Given the description of an element on the screen output the (x, y) to click on. 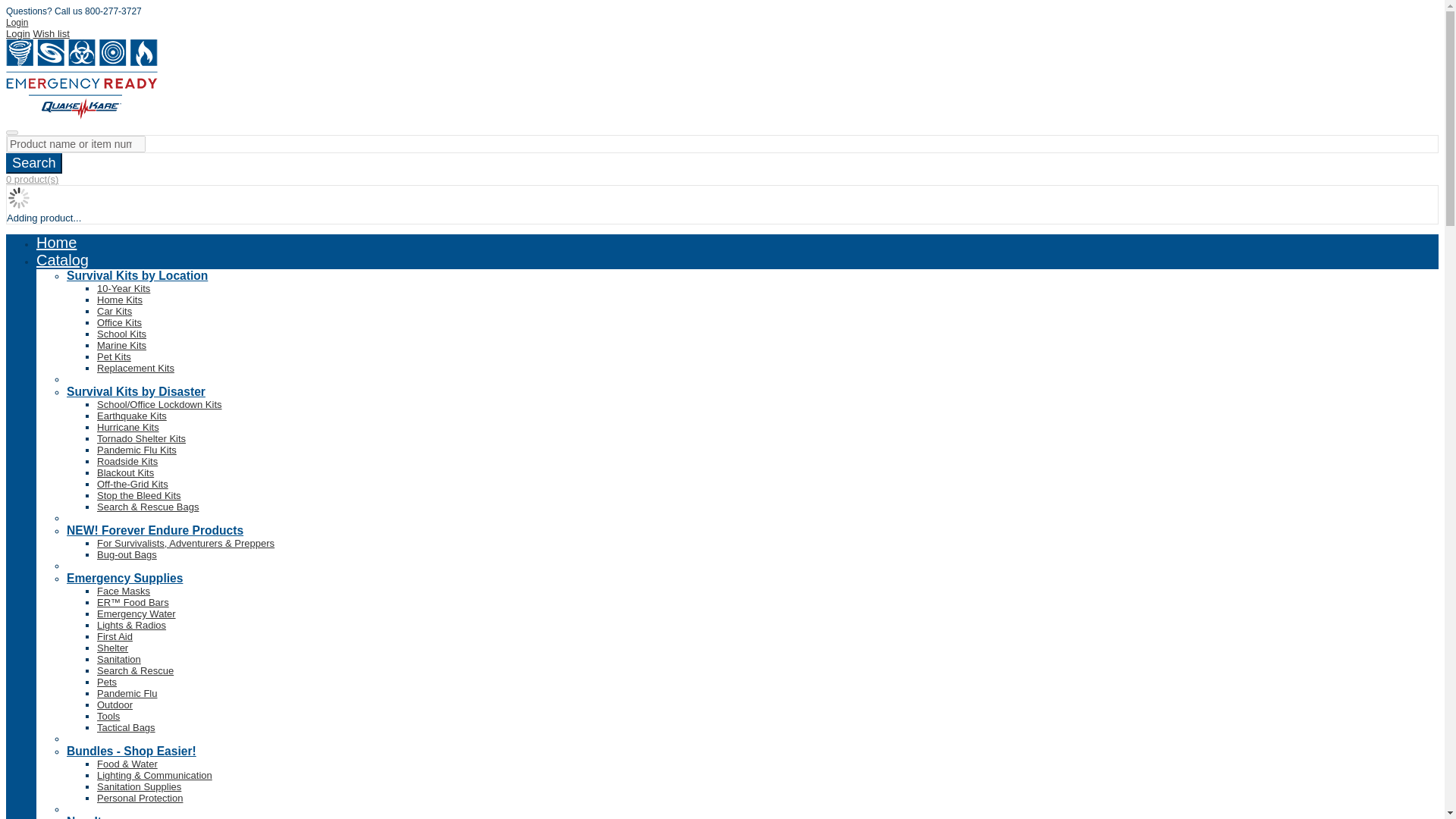
Car Kits (114, 310)
Office Kits (119, 322)
10-Year Kits (123, 288)
Replacement Kits (135, 367)
Emergency Water (136, 613)
Roadside Kits (127, 460)
Blackout Kits (125, 472)
Marine Kits (122, 345)
Search products (33, 163)
Home (56, 242)
Survival Kits by Location (137, 275)
Login (17, 33)
Earthquake Kits (132, 415)
Pandemic Flu Kits (136, 449)
Emergency Supplies (124, 577)
